Given the description of an element on the screen output the (x, y) to click on. 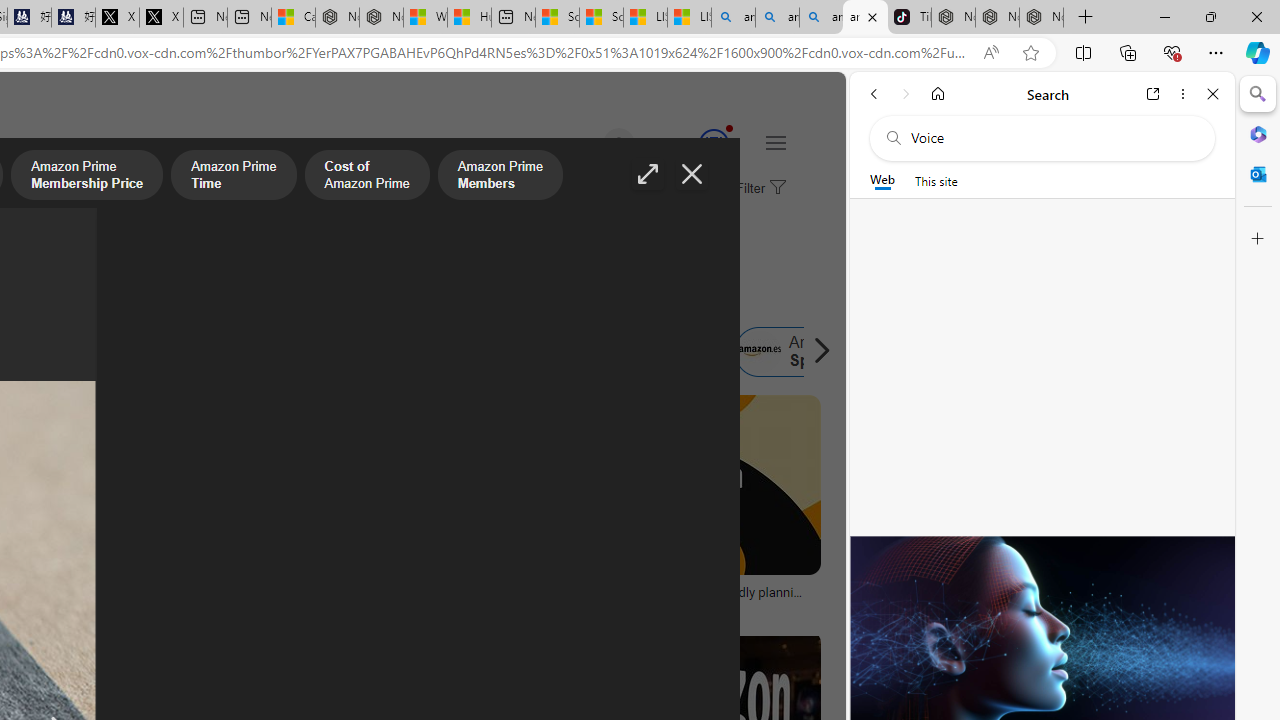
logopng.com.br (98, 606)
Filter (758, 189)
theverge.com (685, 606)
Scroll right (816, 351)
Cost of Amazon Prime (367, 177)
X (161, 17)
Settings and quick links (775, 142)
Microsoft Rewards 135 (690, 143)
Nordace - Best Sellers (953, 17)
Image result for amazon (685, 485)
